Given the description of an element on the screen output the (x, y) to click on. 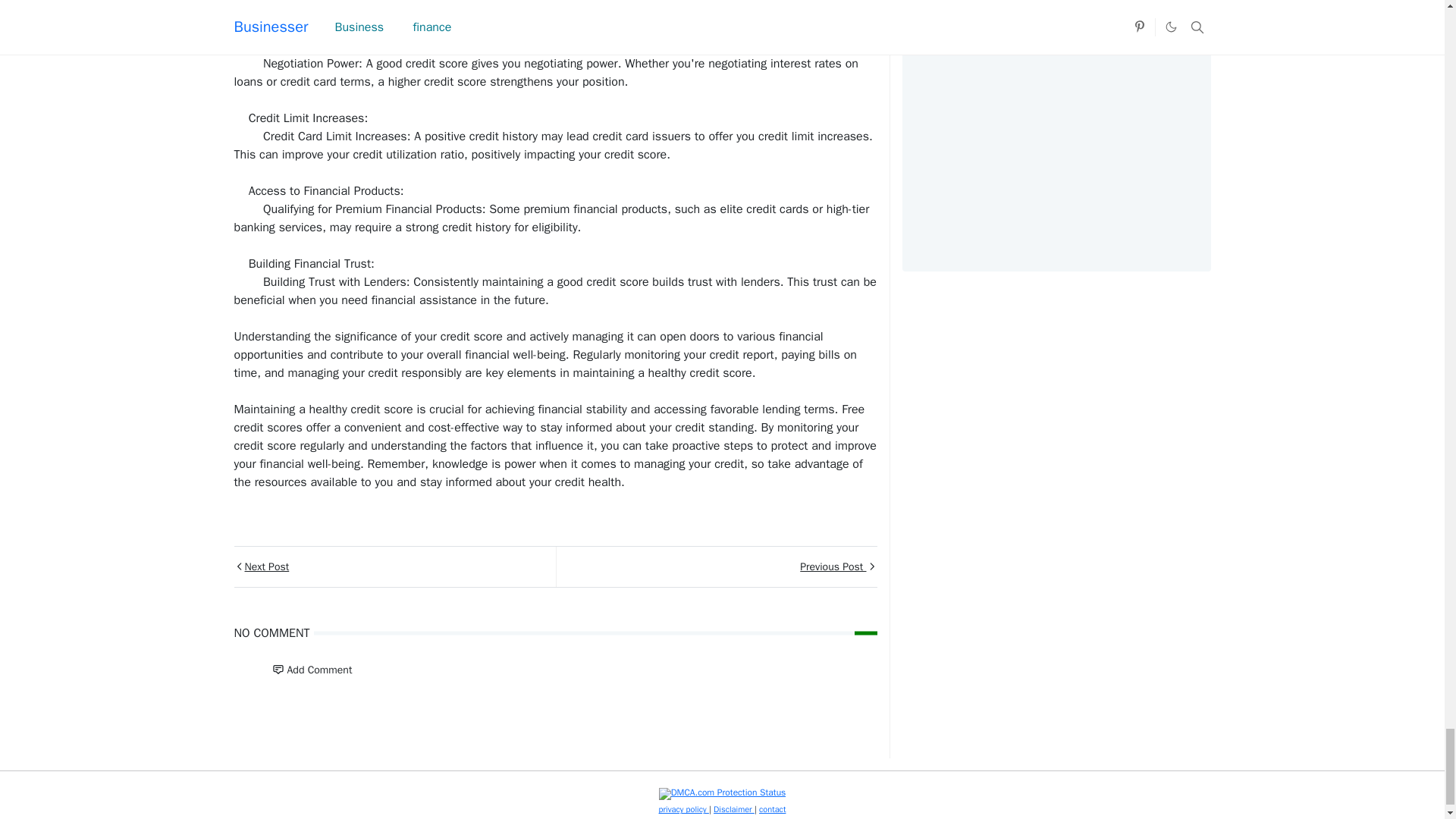
contact (772, 808)
Disclaimer (733, 808)
Next Post (393, 567)
privacy policy (684, 808)
Add Comment (311, 669)
Previous Post (715, 567)
